Given the description of an element on the screen output the (x, y) to click on. 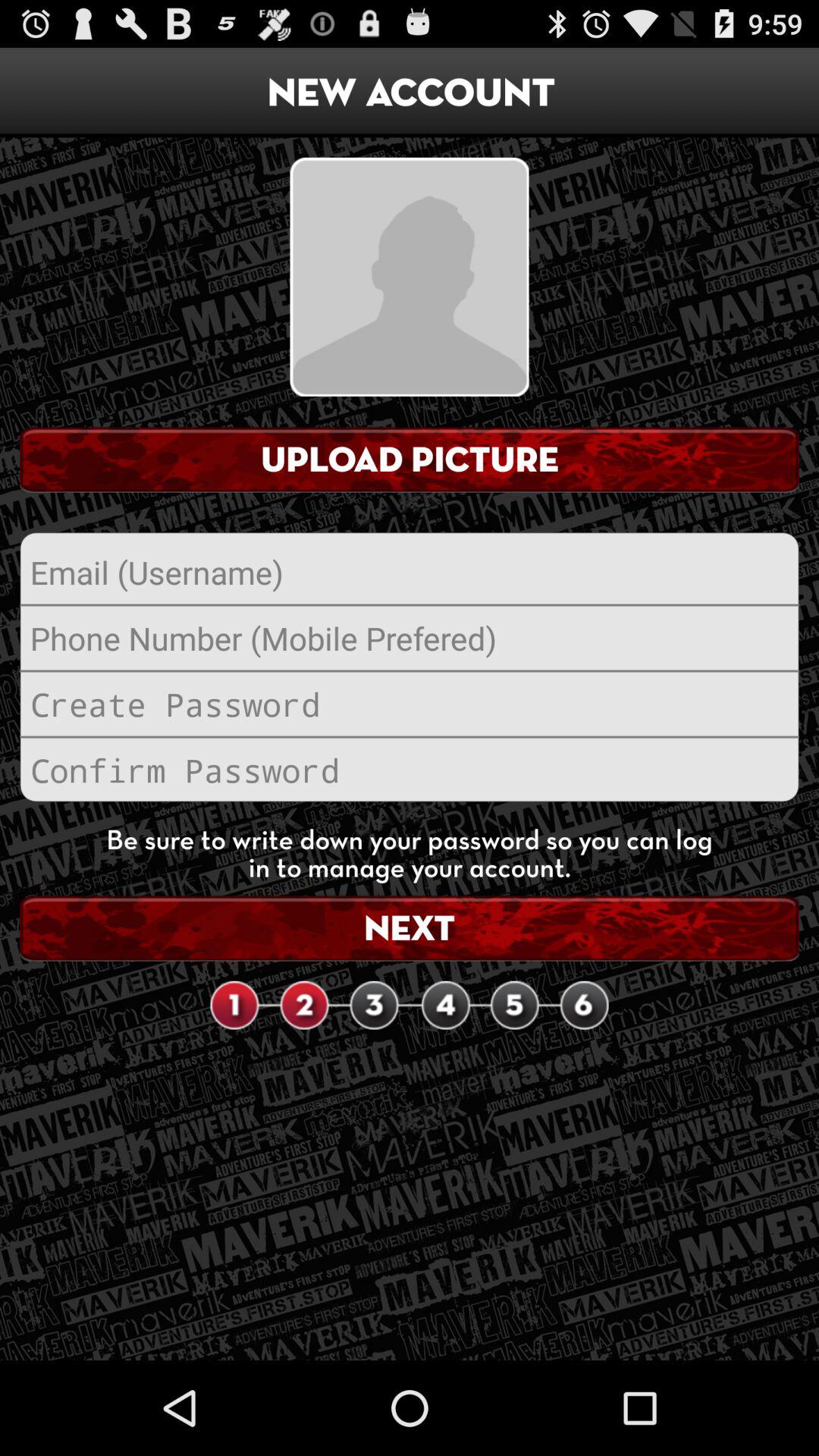
reenter password (409, 769)
